Given the description of an element on the screen output the (x, y) to click on. 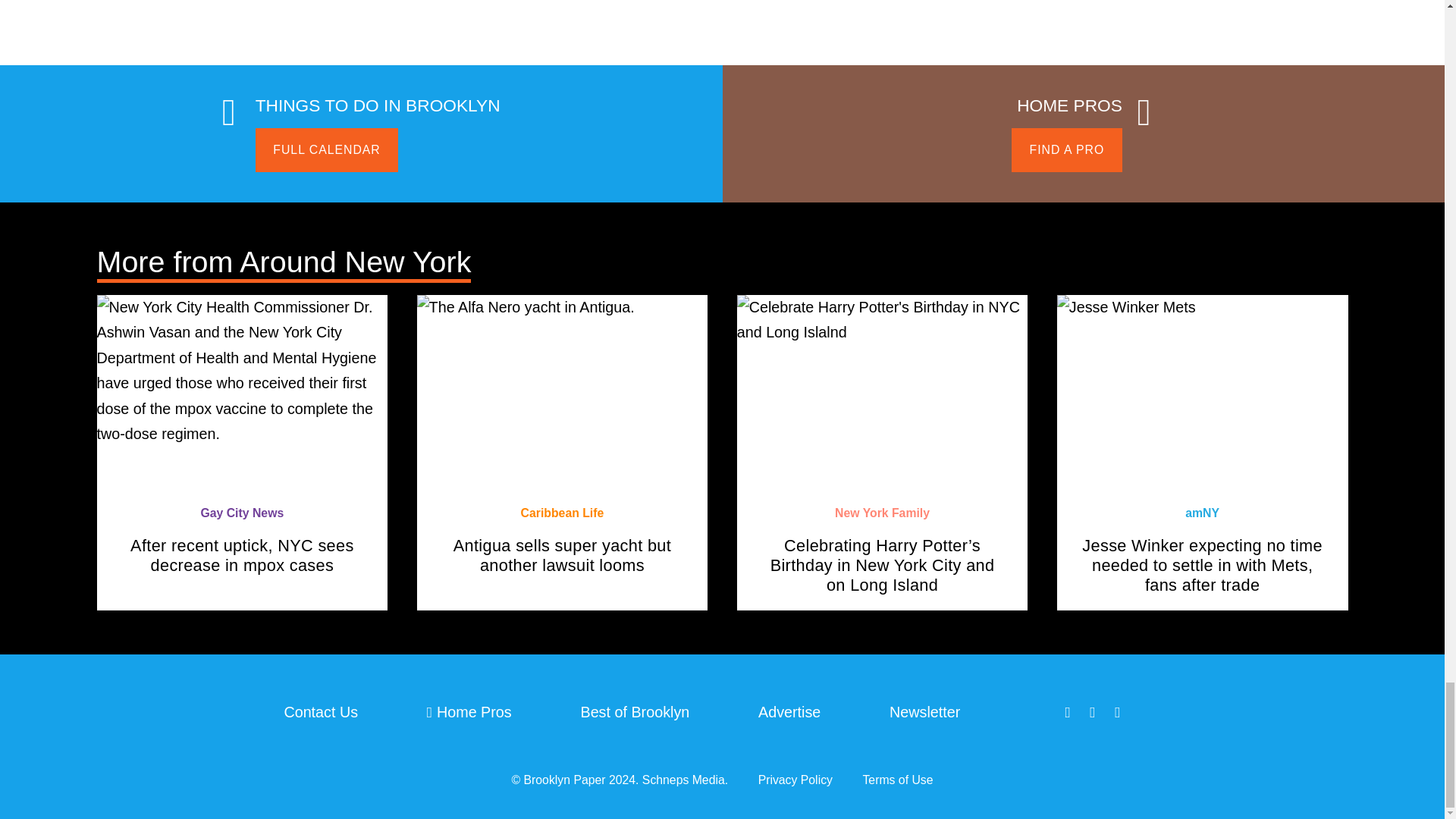
Instagram (1119, 712)
Twitter (1094, 712)
Facebook (1069, 712)
